Given the description of an element on the screen output the (x, y) to click on. 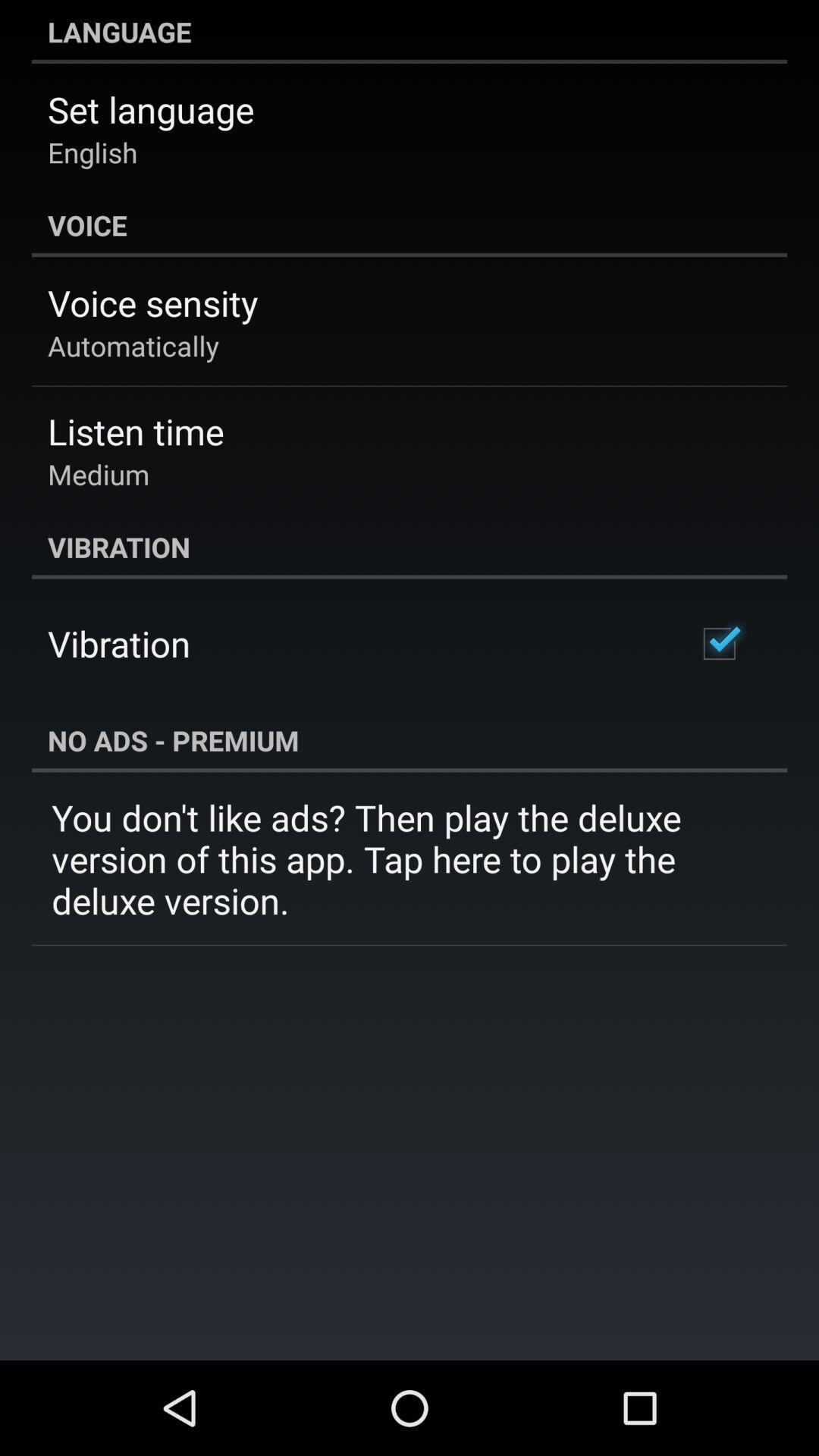
press the item on the right (719, 643)
